Given the description of an element on the screen output the (x, y) to click on. 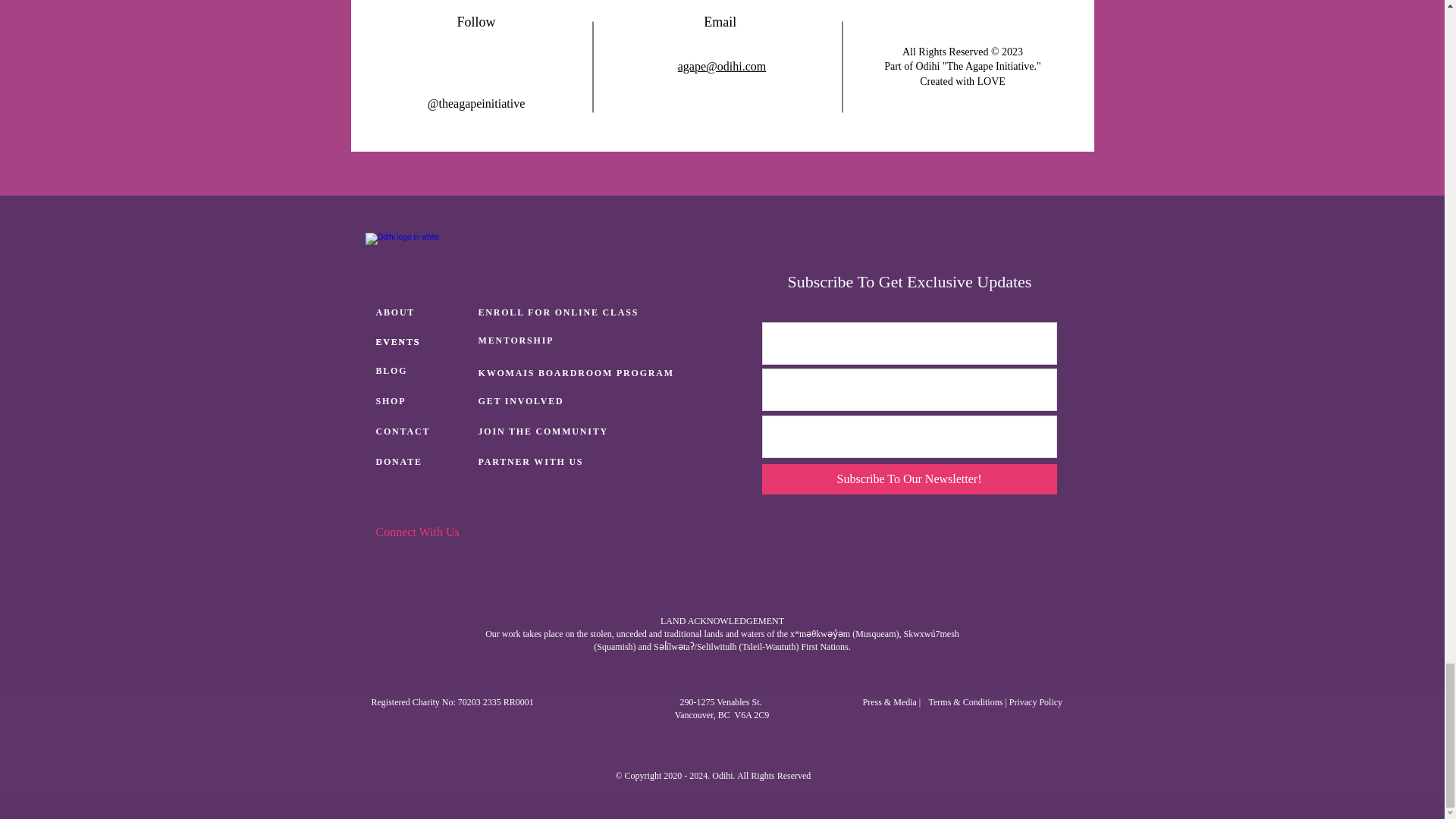
BLOG (422, 371)
CONTACT (422, 431)
ENROLL FOR ONLINE CLASS (561, 313)
ABOUT (422, 313)
EVENTS (422, 342)
DONATE (422, 462)
SHOP (422, 401)
